Given the description of an element on the screen output the (x, y) to click on. 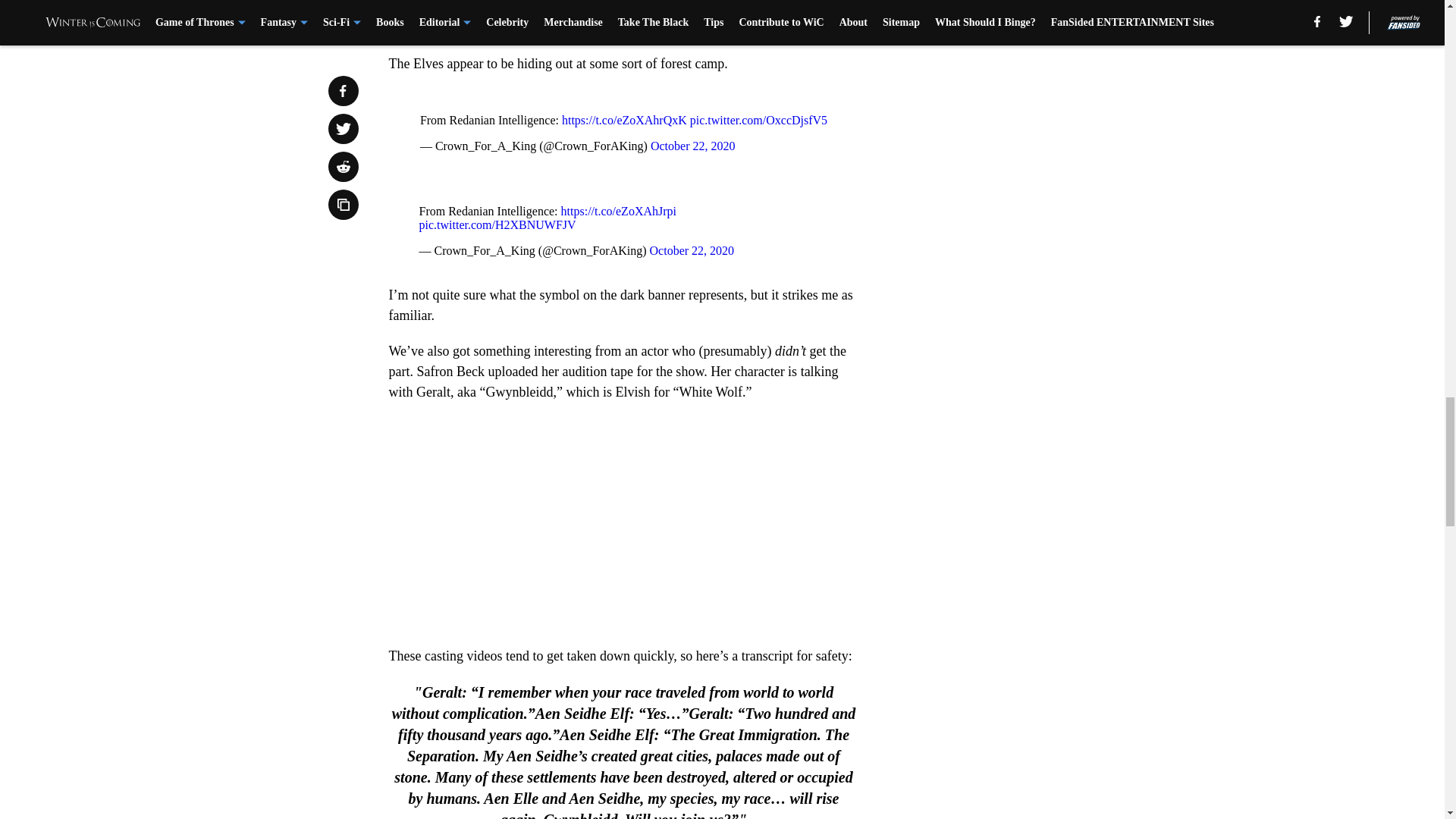
AEN SEIDHE ELF (622, 523)
